Given the description of an element on the screen output the (x, y) to click on. 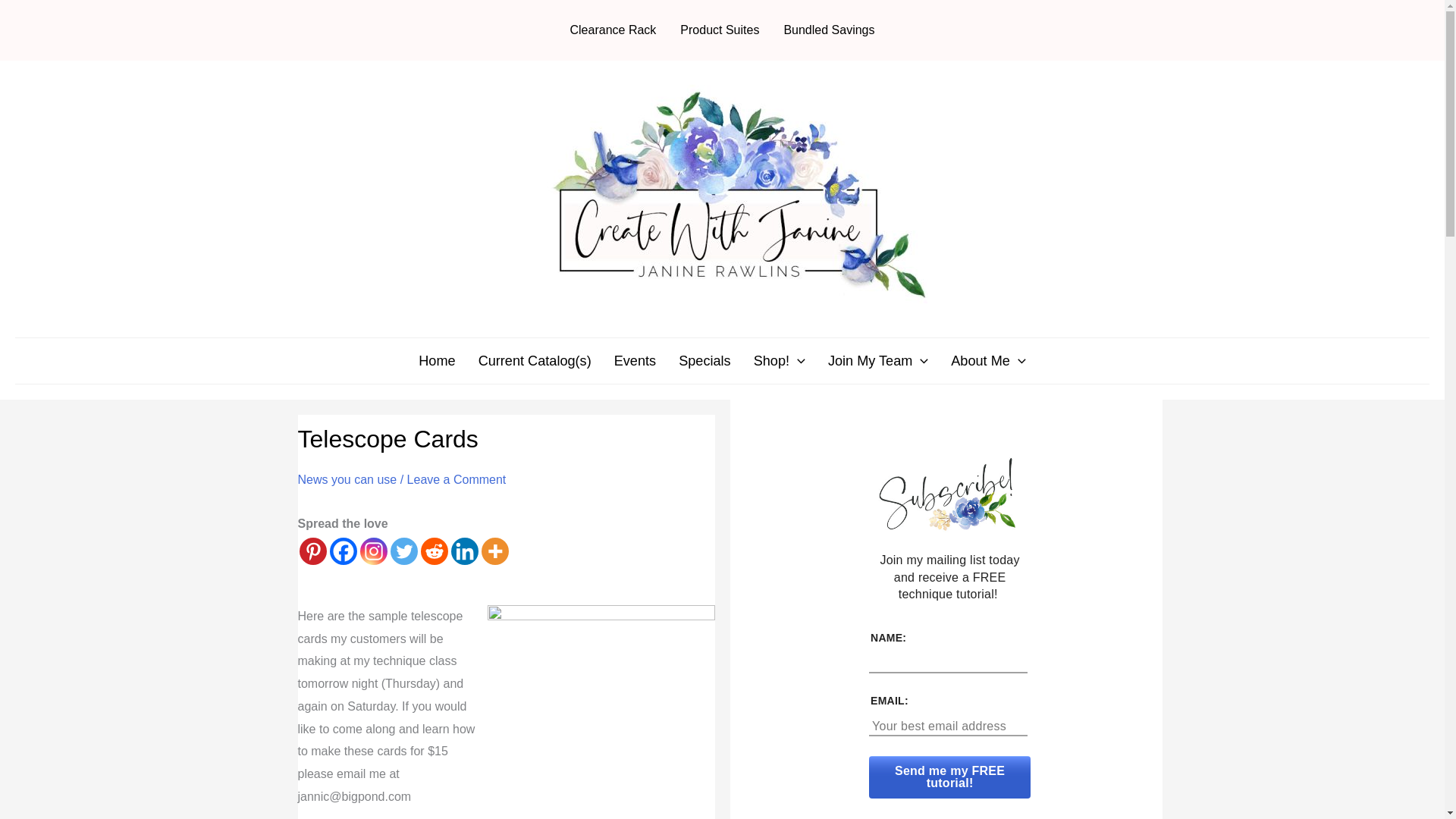
Leave a Comment (456, 479)
Your best email address (948, 726)
Home (436, 361)
Twitter (403, 551)
Bundled Savings (828, 30)
Instagram (373, 551)
Reddit (433, 551)
Events (634, 361)
News you can use (346, 479)
About Me (987, 361)
